Given the description of an element on the screen output the (x, y) to click on. 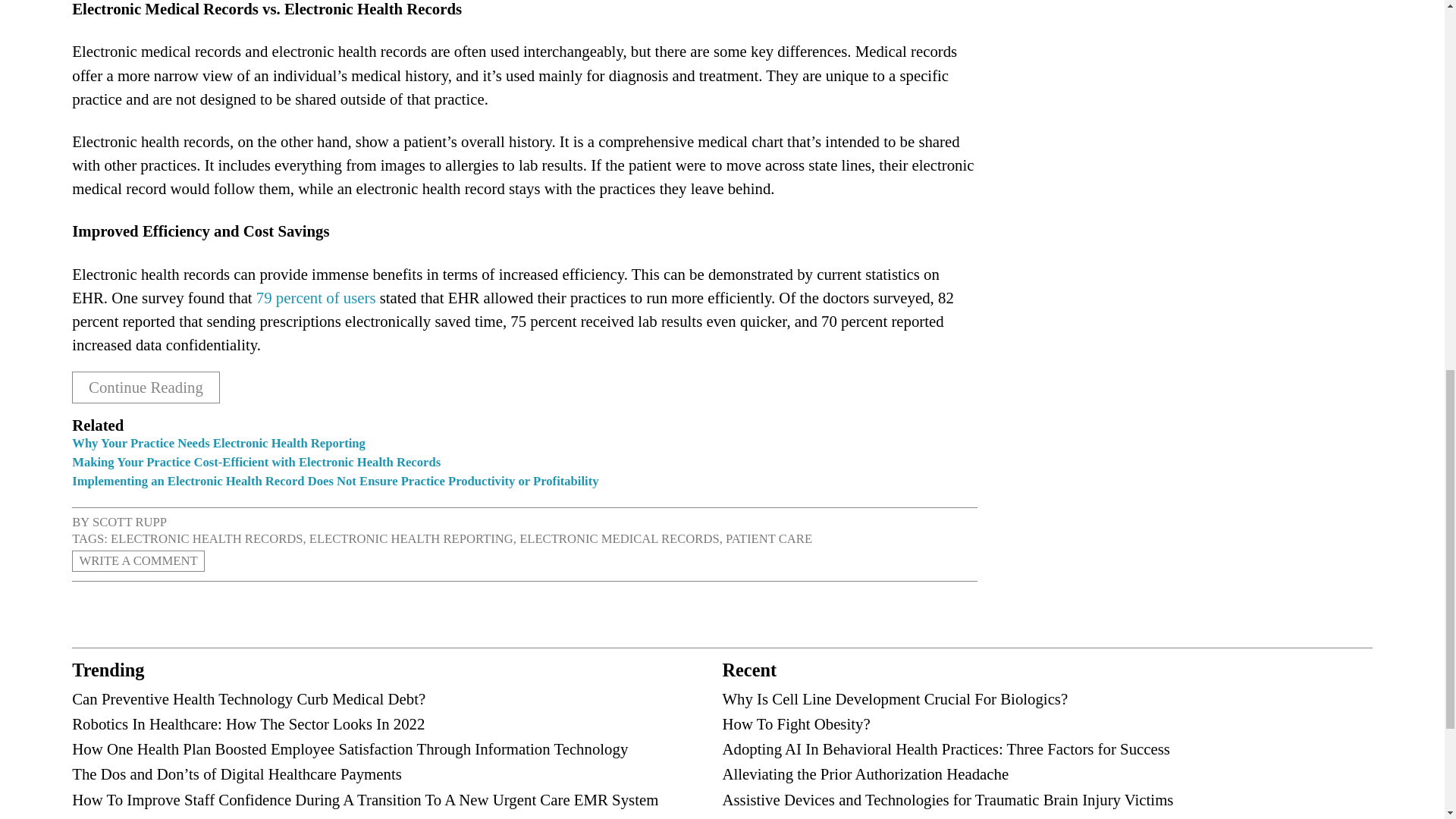
Why Your Practice Needs Electronic Health Reporting (218, 442)
ELECTRONIC MEDICAL RECORDS (619, 538)
SCOTT RUPP (130, 522)
Robotics In Healthcare: How The Sector Looks In 2022 (248, 723)
79 percent of users (315, 297)
Continue Reading (145, 387)
